Given the description of an element on the screen output the (x, y) to click on. 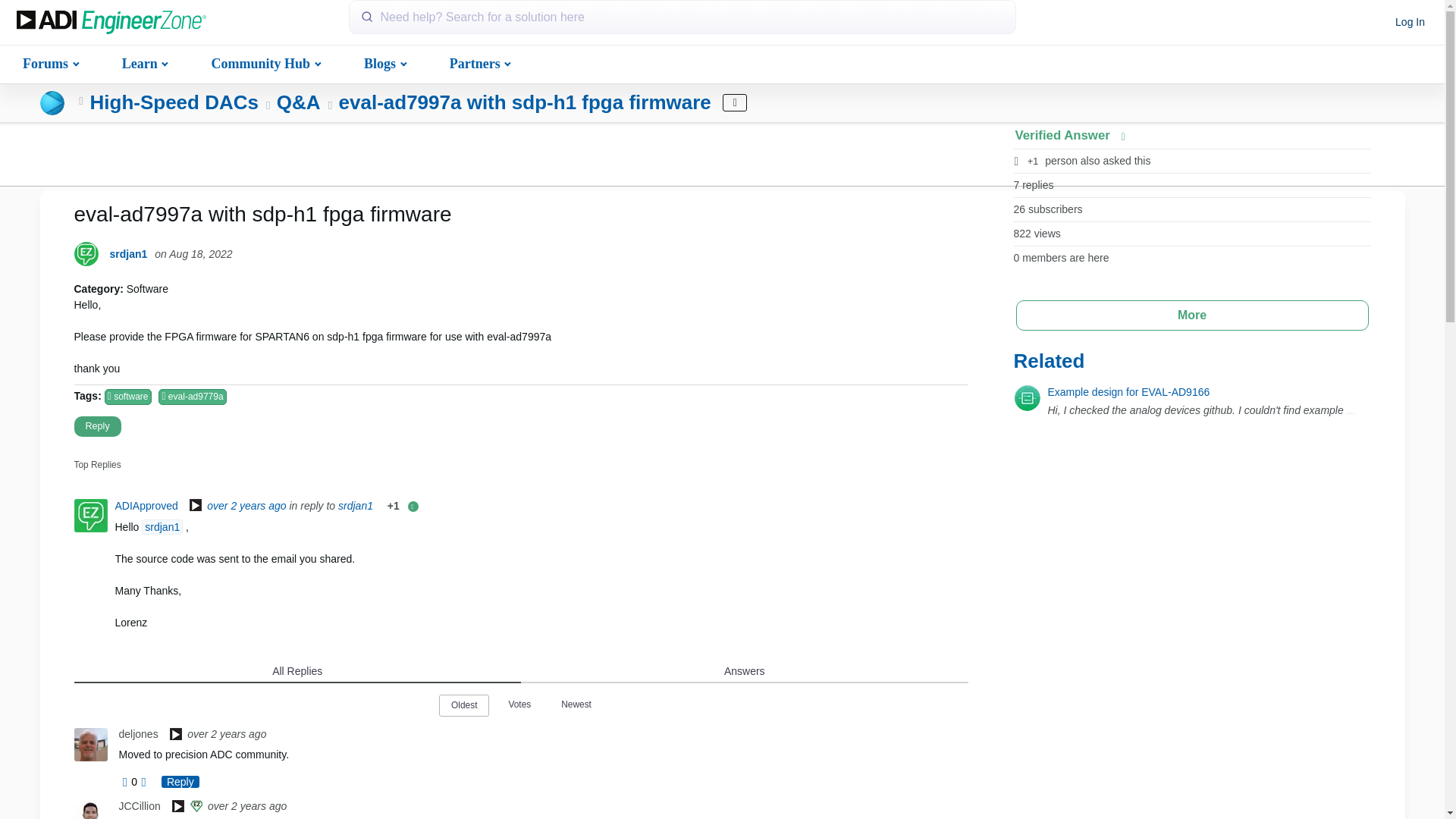
Log In (1409, 22)
Super User (196, 807)
Analog Employees (195, 506)
Up to Data Converters (81, 101)
Analog Employees (177, 807)
Analog Employees (175, 735)
Home (111, 22)
Forums (49, 62)
Join or sign in (1409, 22)
